Given the description of an element on the screen output the (x, y) to click on. 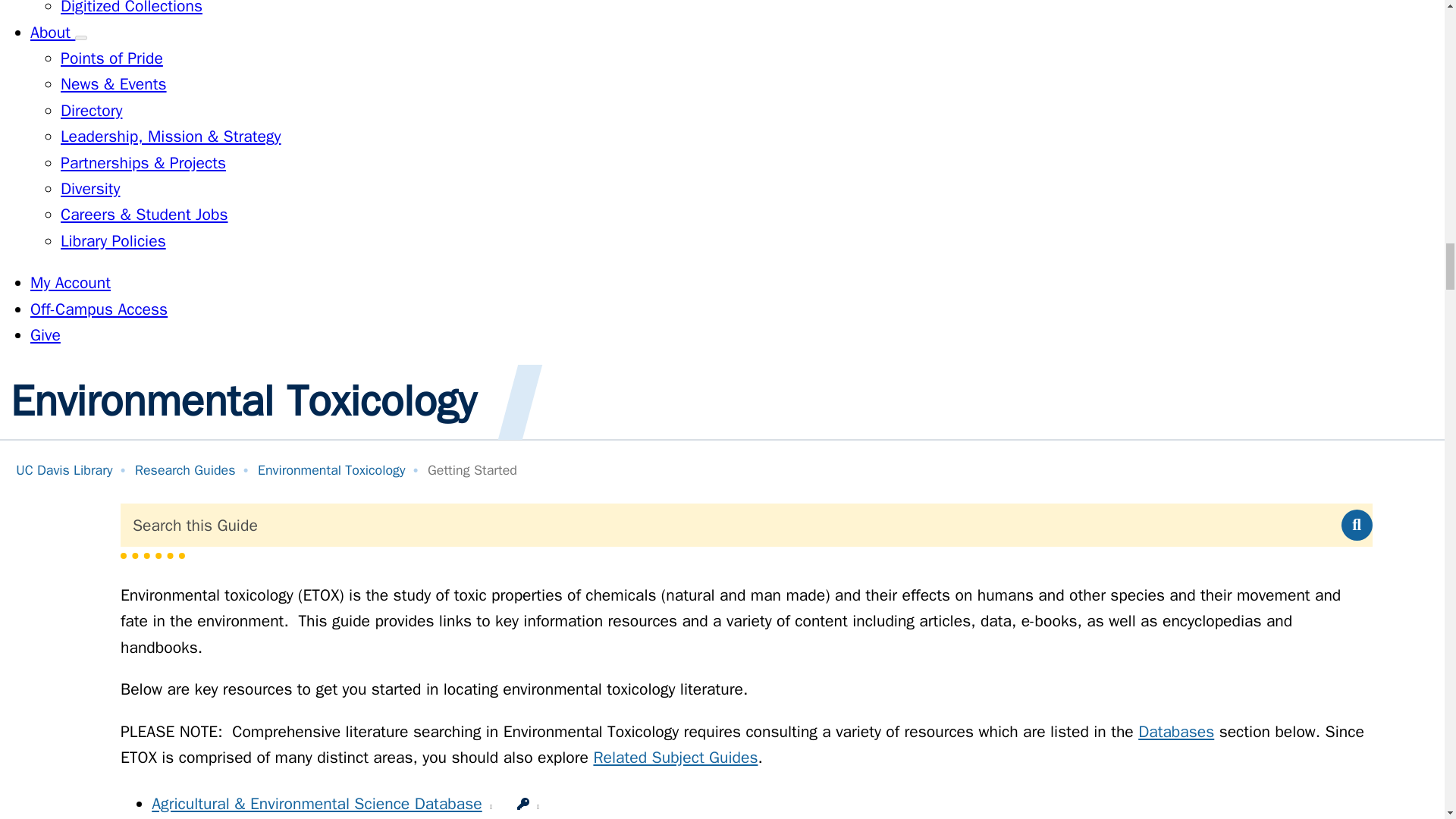
This link opens in a new window (490, 806)
This link opens in a new window (537, 806)
